Given the description of an element on the screen output the (x, y) to click on. 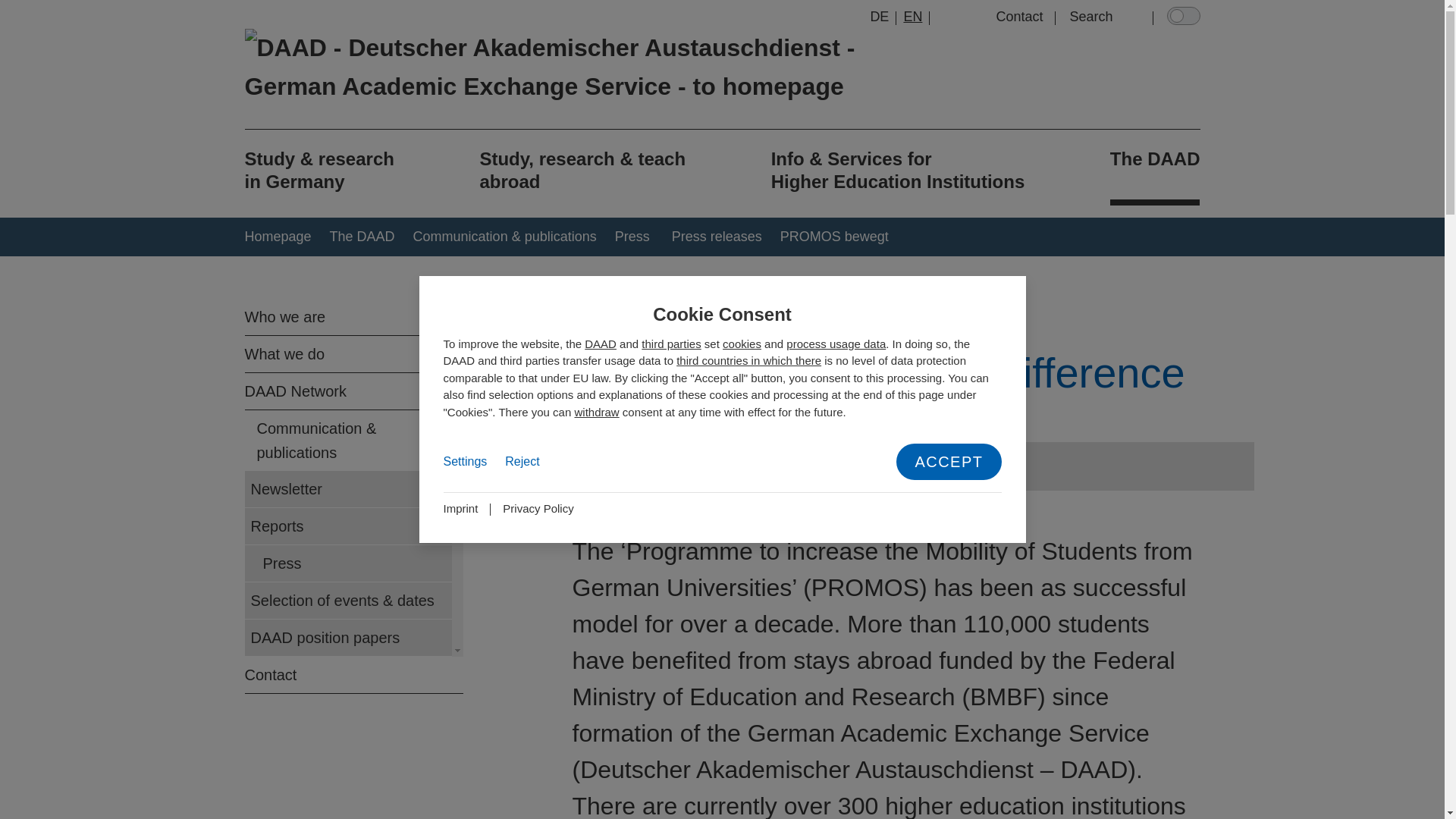
The DAAD (1154, 167)
Press (625, 236)
Imprint (459, 508)
third countries in which there (749, 359)
Settings (464, 461)
Press releases (708, 236)
Contact (1018, 16)
process usage data (835, 343)
DAAD (600, 343)
Homepage (277, 236)
